Given the description of an element on the screen output the (x, y) to click on. 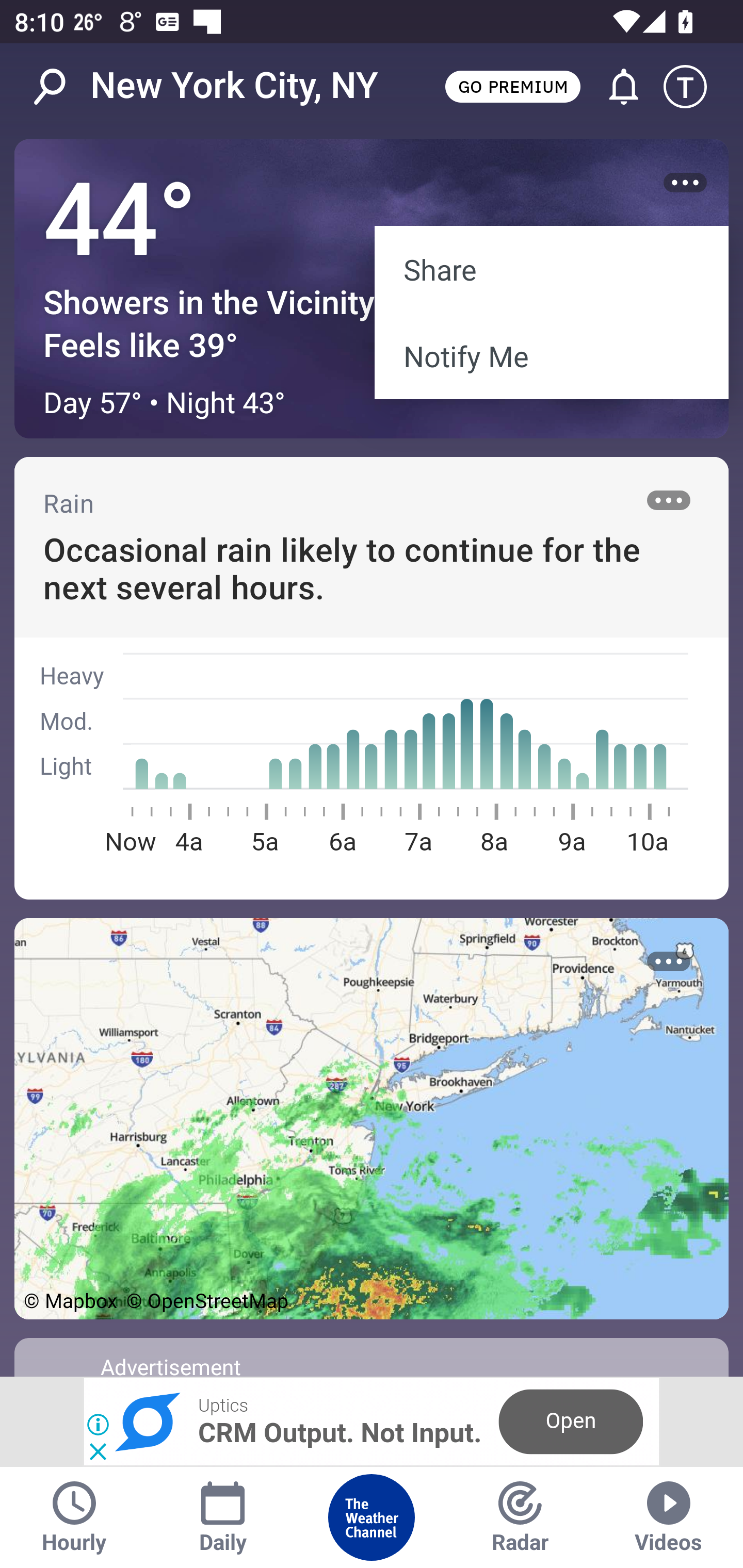
Share (551, 268)
Notify Me (551, 355)
